Given the description of an element on the screen output the (x, y) to click on. 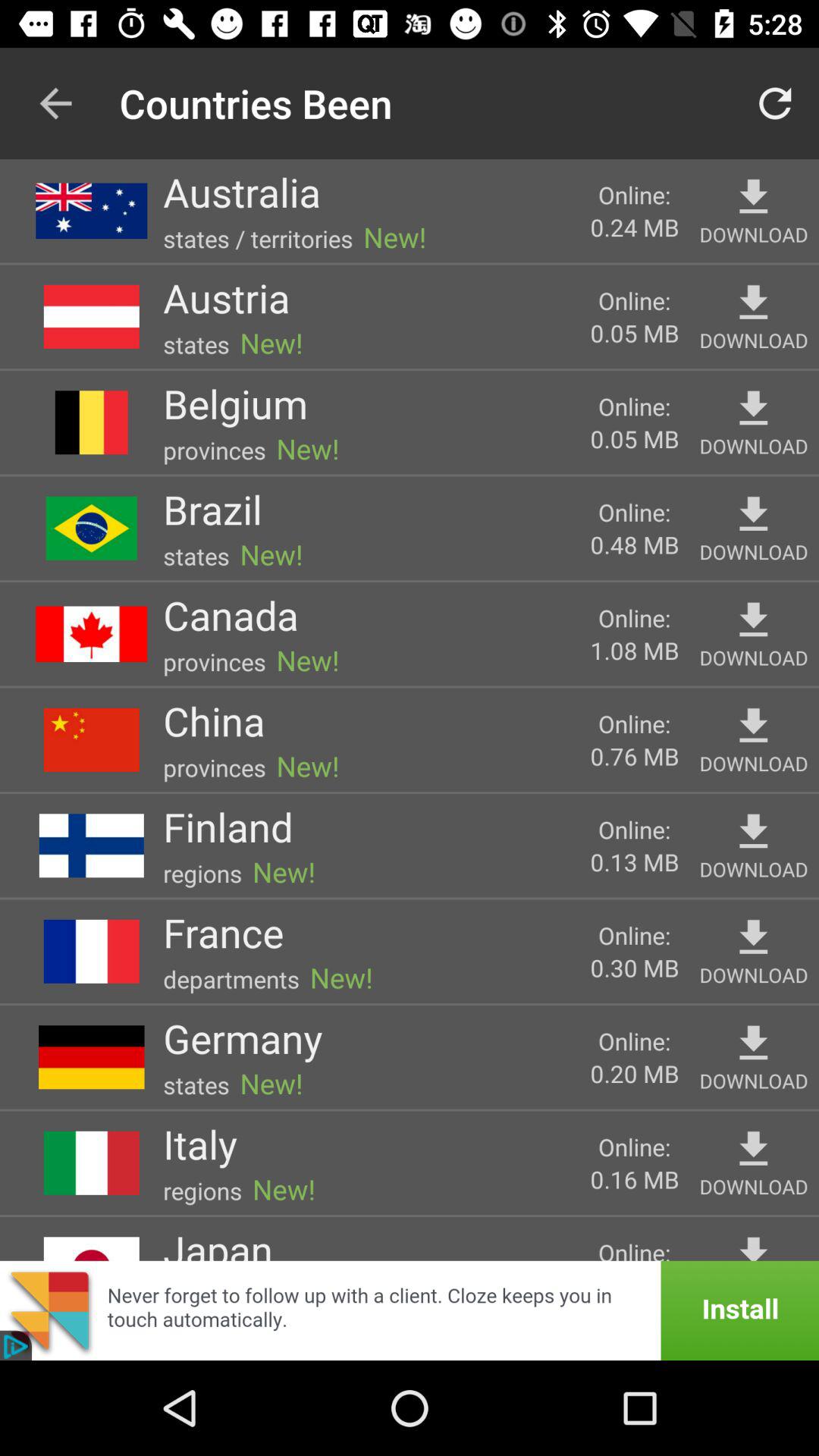
download france (753, 937)
